Given the description of an element on the screen output the (x, y) to click on. 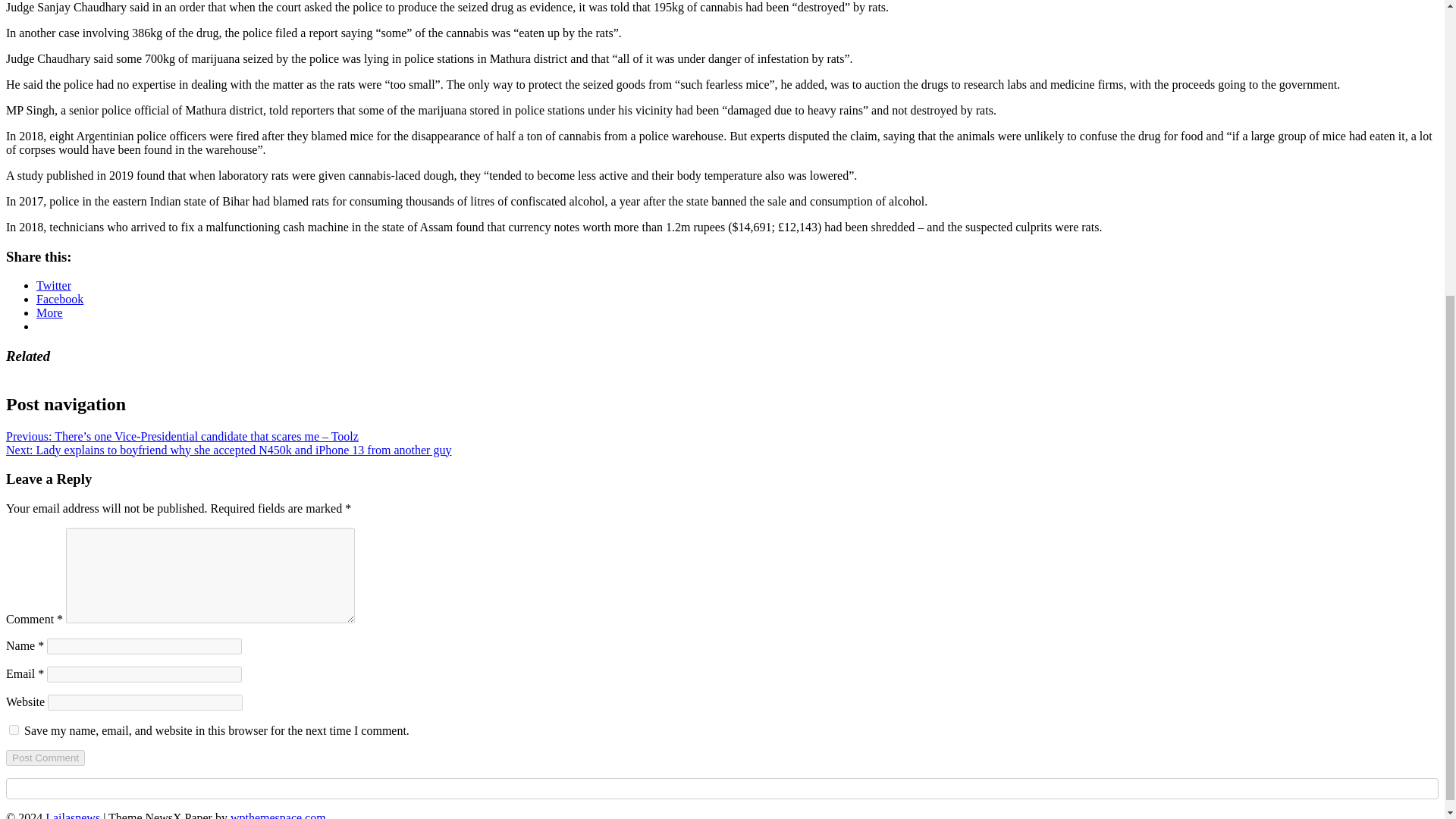
Twitter (53, 285)
Click to share on Twitter (53, 285)
yes (13, 729)
More (49, 312)
Click to share on Facebook (59, 298)
Post Comment (44, 757)
Facebook (59, 298)
Post Comment (44, 757)
